Given the description of an element on the screen output the (x, y) to click on. 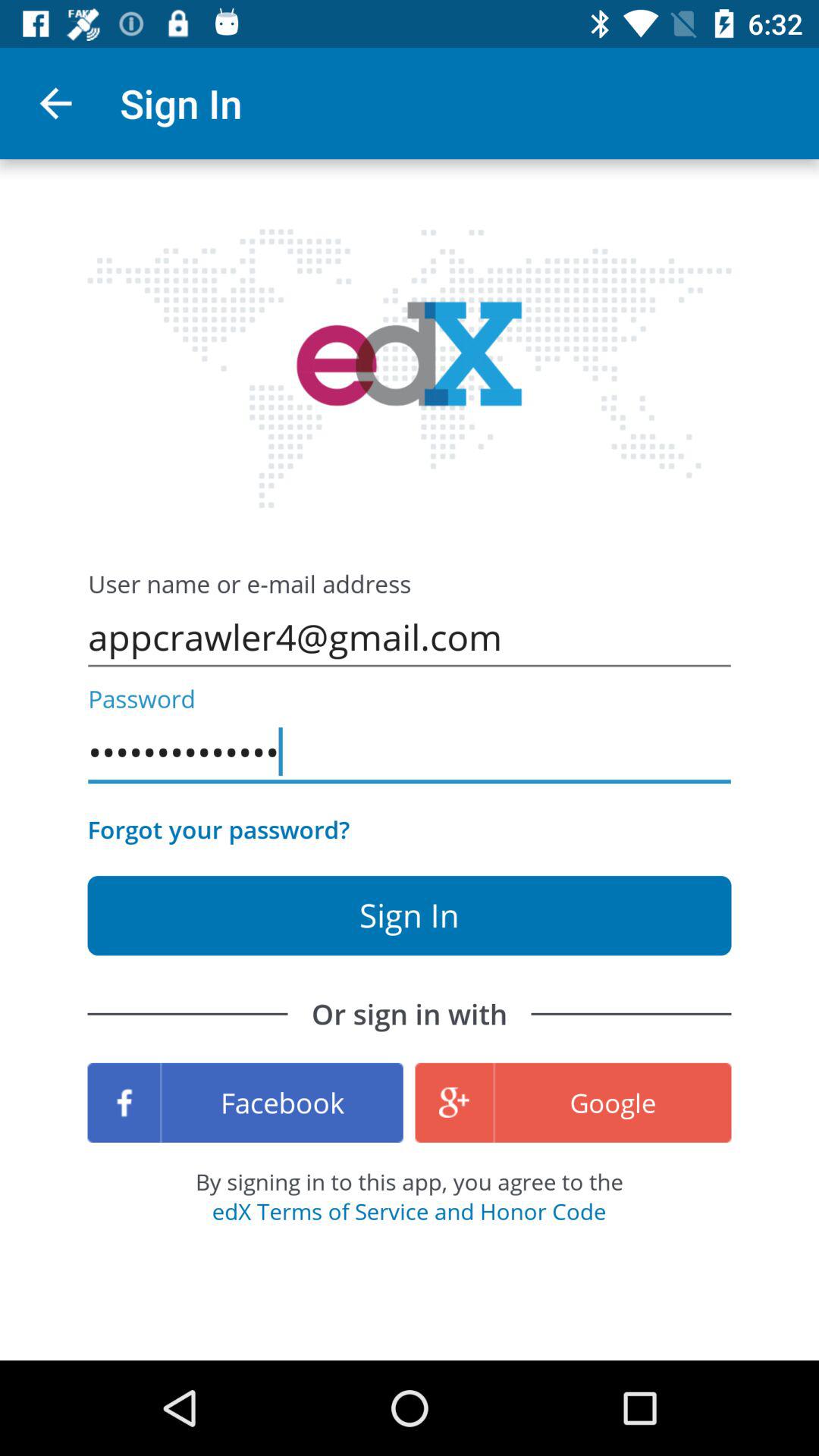
select the icon below the by signing in (409, 1211)
